Given the description of an element on the screen output the (x, y) to click on. 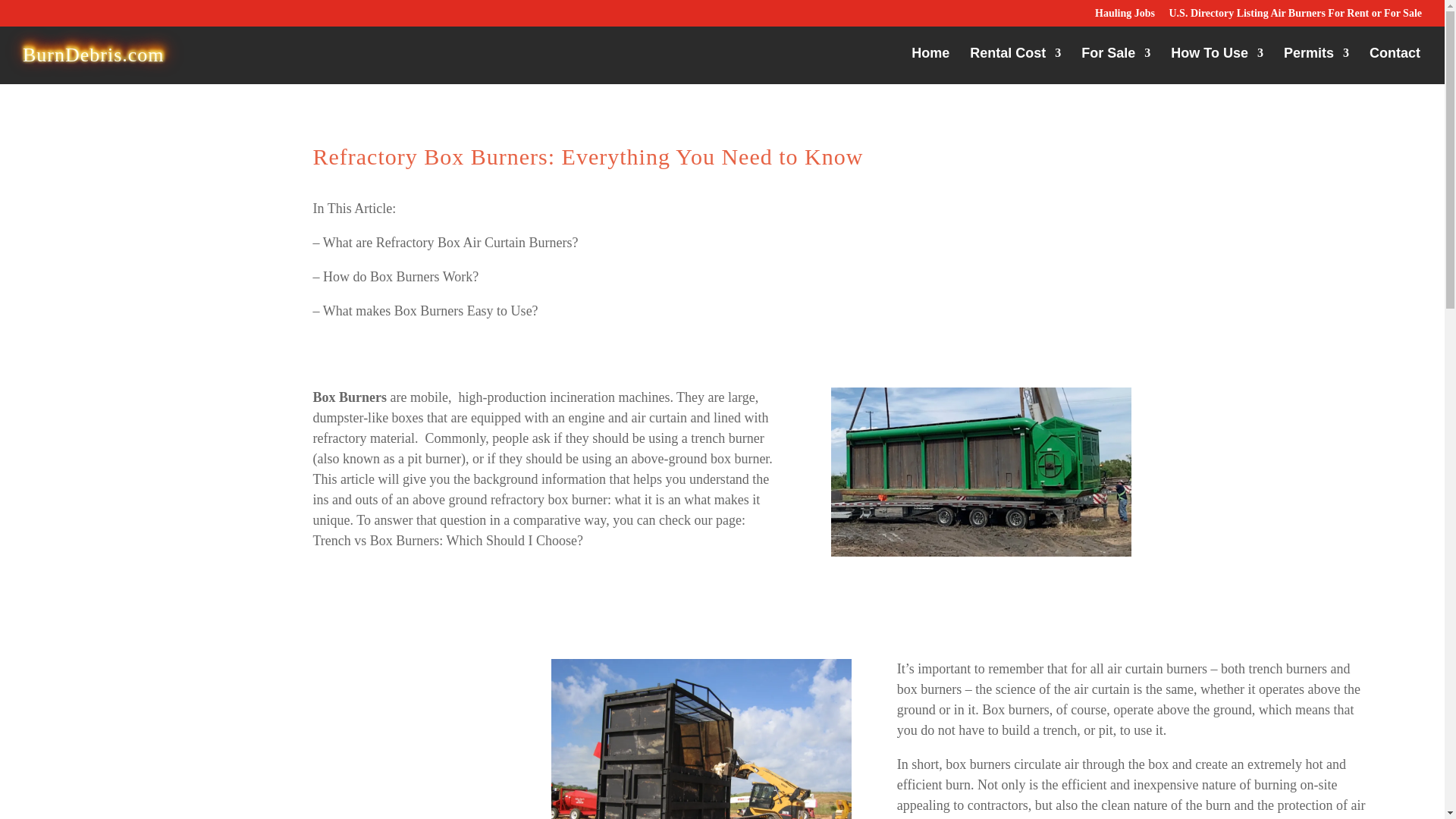
U.S. Directory Listing Air Burners For Rent or For Sale (1295, 16)
Air Curtain Destructors For Sale (1115, 65)
How To Use (1216, 65)
How To Use Air Curtain Burners (1216, 65)
Rental Cost (1015, 65)
Permits (1316, 65)
BurnDebris.com (93, 55)
For Sale (1115, 65)
Home (930, 65)
101C11D1-D7A6-424B-991D-C908C33C7538 (701, 739)
